Given the description of an element on the screen output the (x, y) to click on. 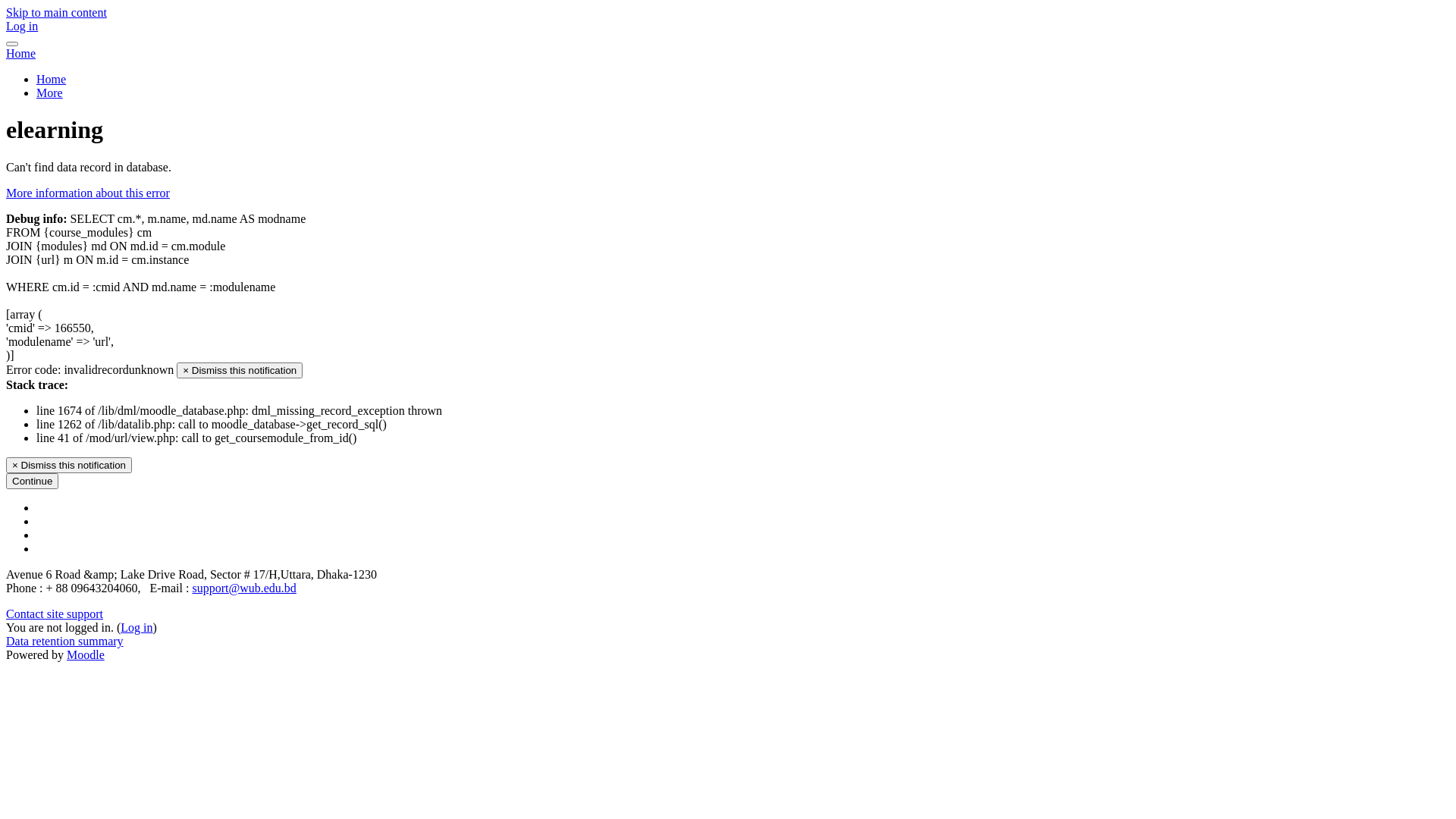
Contact site support Element type: text (54, 613)
More Element type: text (49, 92)
Moodle Element type: text (85, 654)
Continue Element type: text (32, 481)
More information about this error Element type: text (87, 192)
Log in Element type: text (21, 25)
Skip to main content Element type: text (56, 12)
Close drawer Element type: hover (12, 43)
Data retention summary Element type: text (64, 640)
Home Element type: text (20, 53)
Home Element type: text (50, 78)
support@wub.edu.bd Element type: text (243, 587)
Log in Element type: text (136, 627)
